Given the description of an element on the screen output the (x, y) to click on. 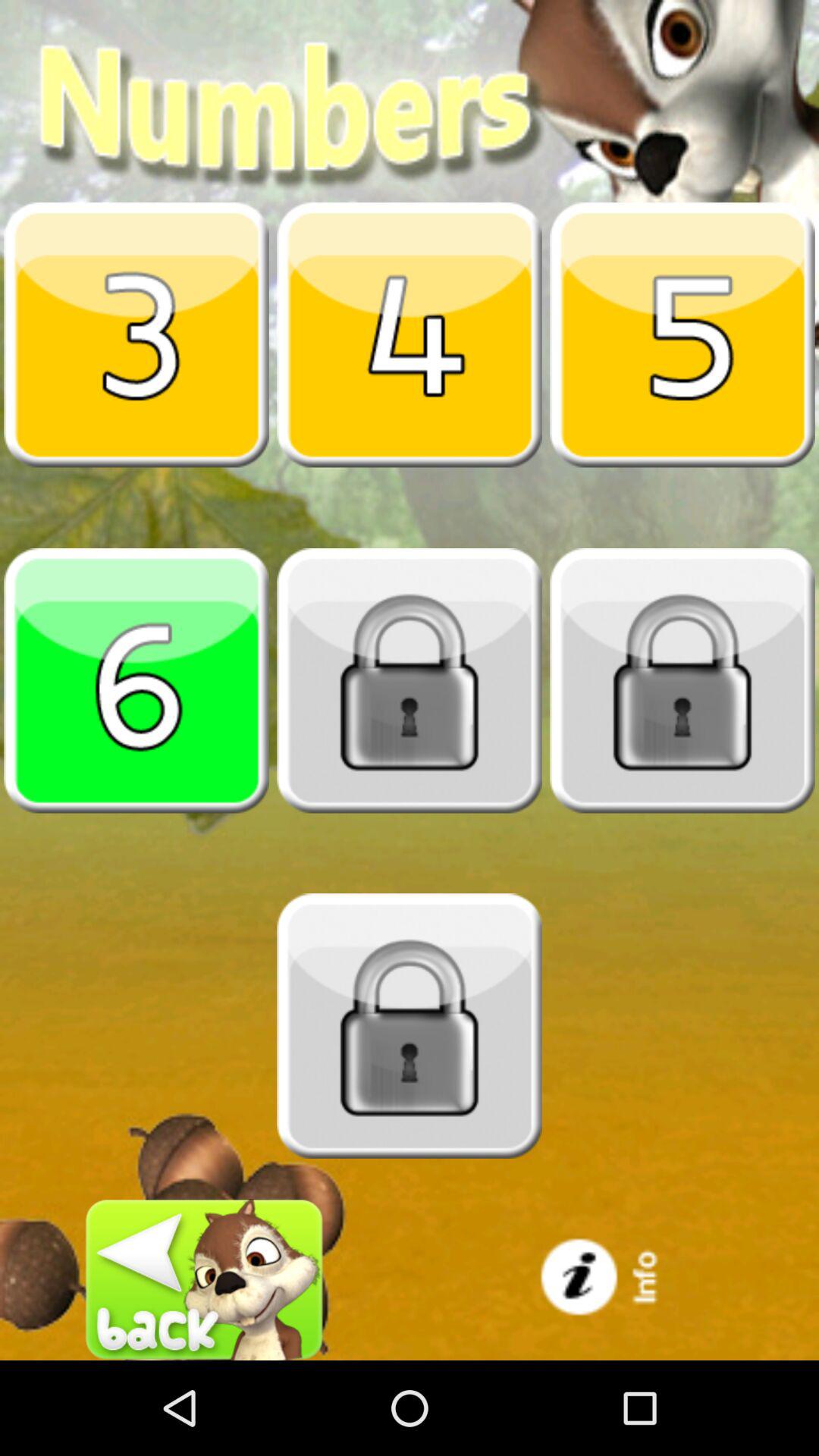
game level (136, 680)
